Given the description of an element on the screen output the (x, y) to click on. 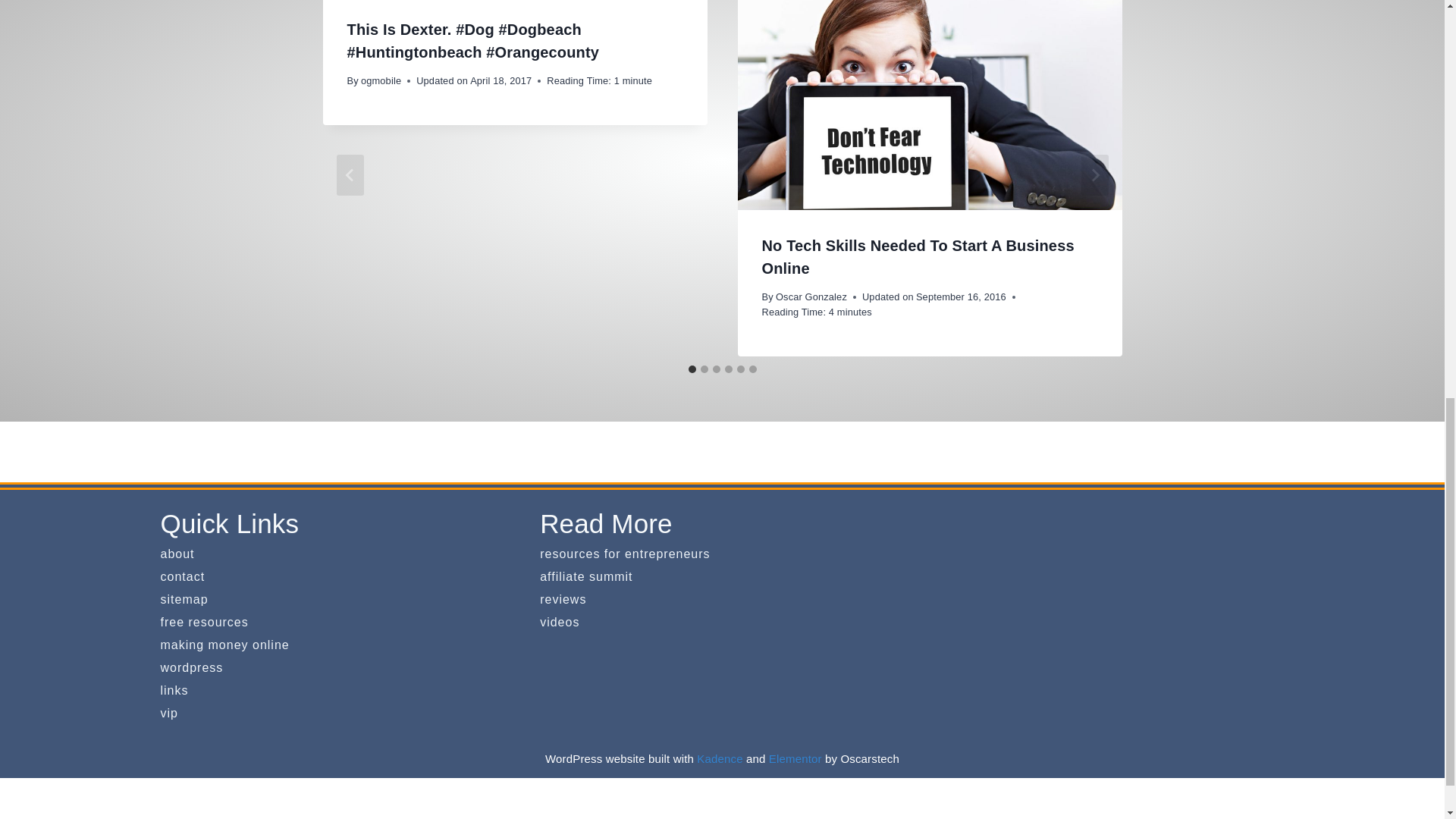
No Tech Skills Needed To Start A Business Online (917, 256)
Elementor (795, 758)
Kadence WP (719, 758)
